Given the description of an element on the screen output the (x, y) to click on. 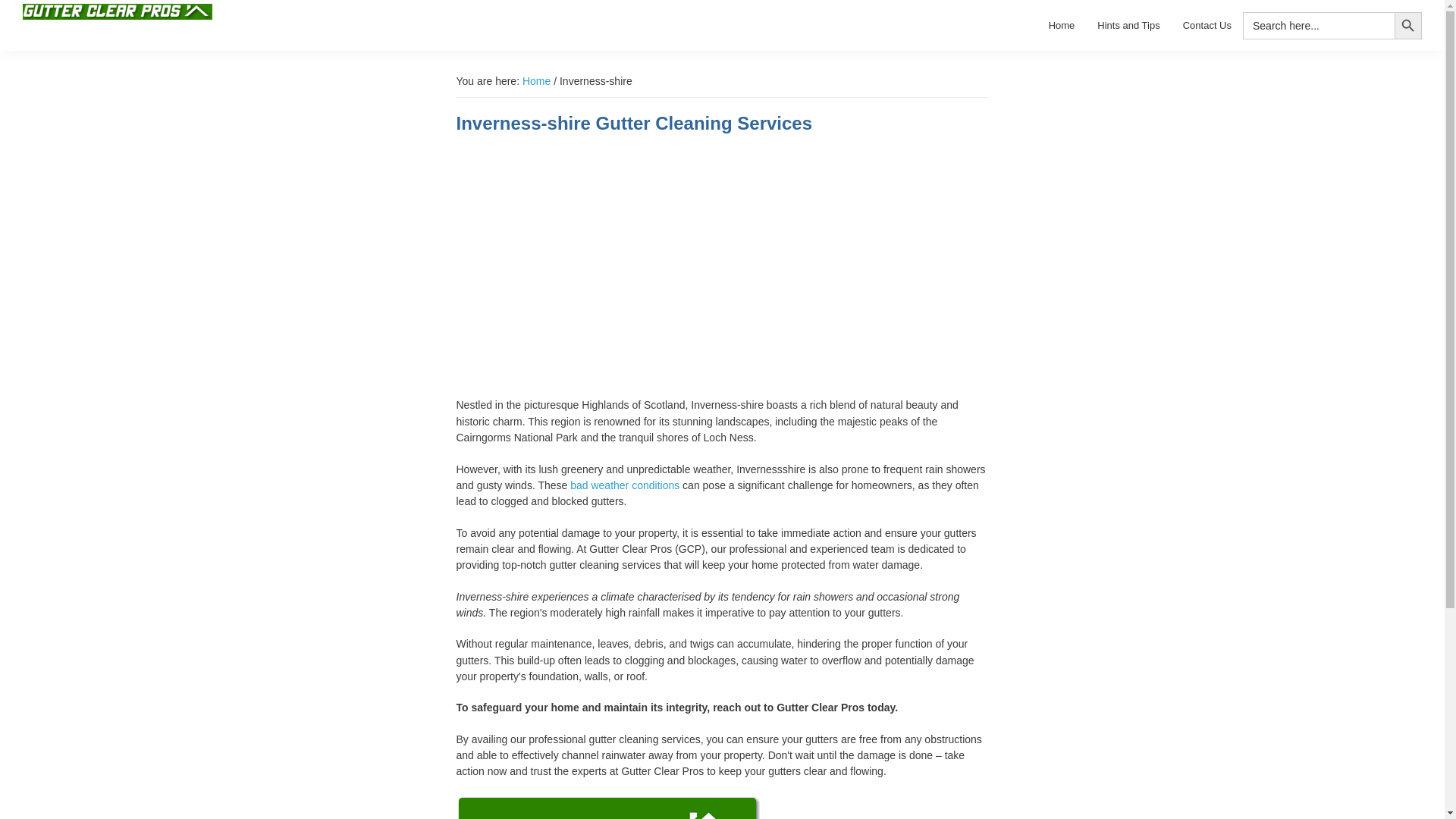
bad weather conditions (624, 485)
Hints and Tips (1128, 25)
Home (1061, 25)
Google map results for Inverness-shire in UK (722, 263)
Quote (609, 803)
Search Button (1408, 25)
Contact Us (1207, 25)
Home (536, 80)
